Given the description of an element on the screen output the (x, y) to click on. 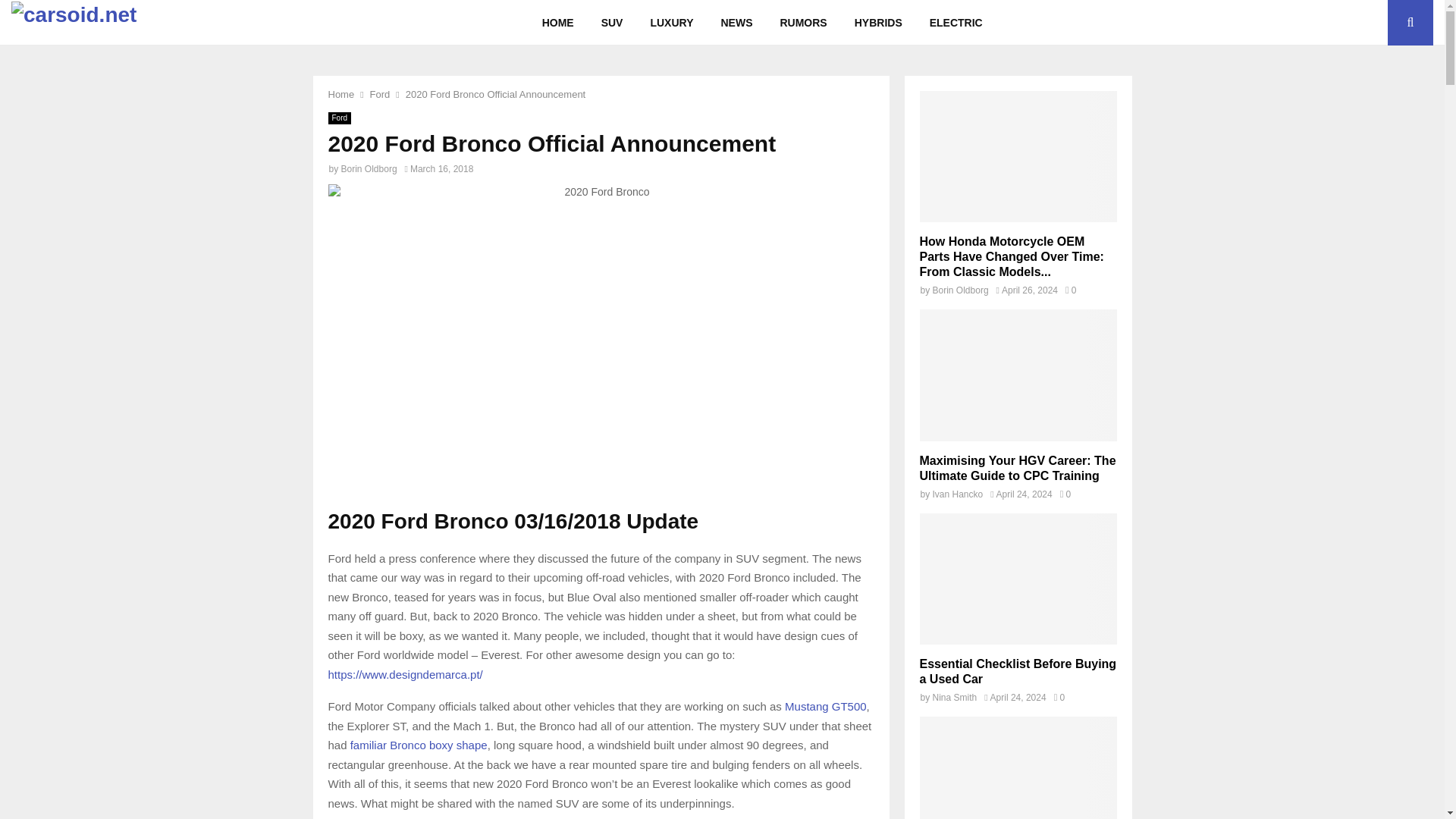
 Essential Checklist Before Buying a Used Car  (1017, 671)
2020 Ford Bronco Official Announcement (496, 93)
15 Tips for Replacing Your Battery Quickly (1017, 767)
HYBRIDS (878, 22)
Borin Oldborg (368, 168)
Essential Checklist Before Buying a Used Car (1017, 578)
Home (340, 93)
ELECTRIC (955, 22)
SUV (612, 22)
LUXURY (671, 22)
RUMORS (802, 22)
NEWS (735, 22)
HOME (558, 22)
